Given the description of an element on the screen output the (x, y) to click on. 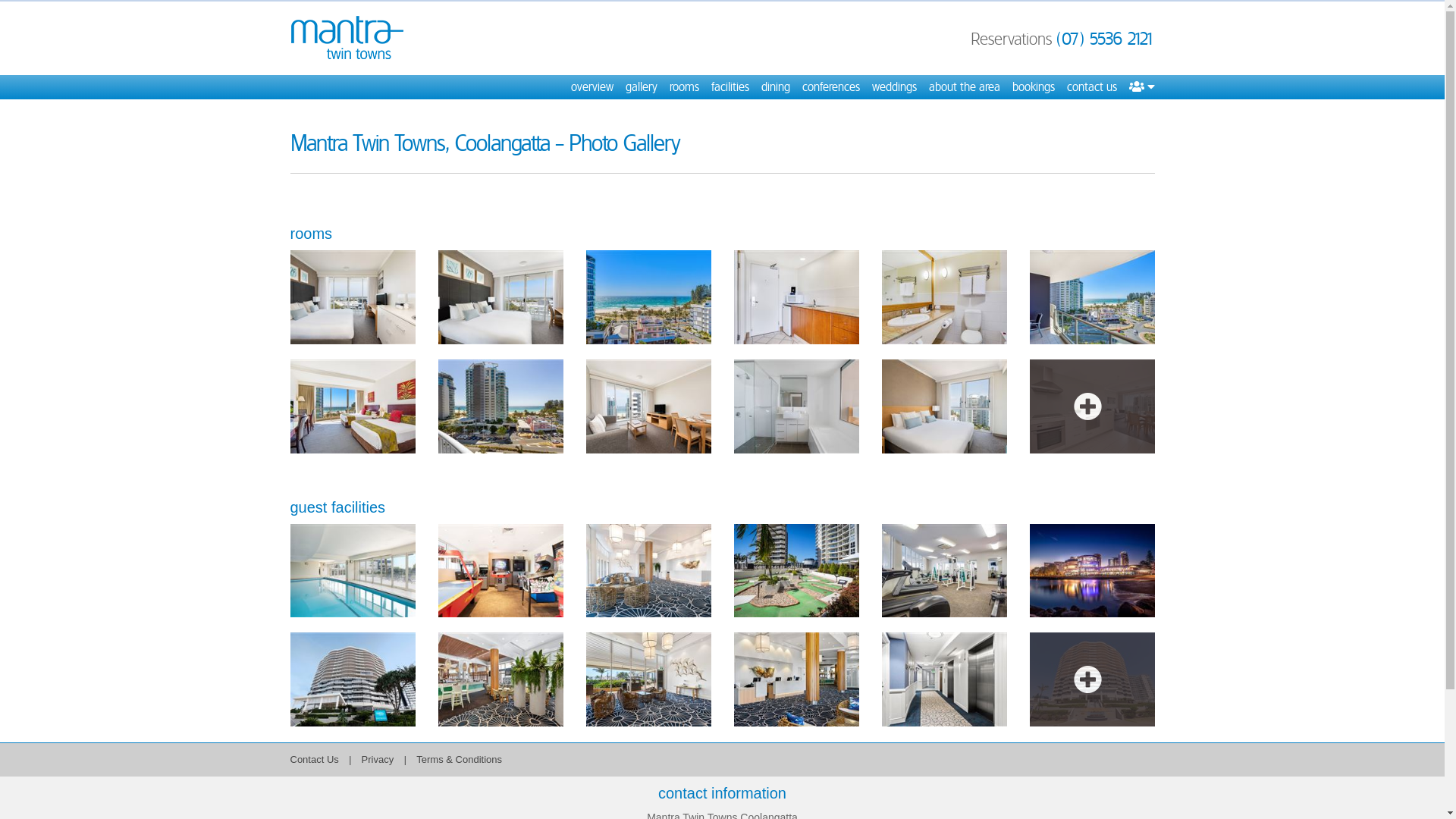
Exterior - Mantra Twin Towns Element type: hover (1091, 570)
Deluxe King Suite Balcony - Mantra Twin Towns Element type: hover (500, 406)
conferences Element type: text (830, 87)
Gym - Mantra Twin Towns Element type: hover (943, 570)
bookings Element type: text (1032, 87)
Mantra Twin Towns Element type: hover (346, 37)
rooms Element type: text (683, 87)
contact us Element type: text (1091, 87)
Games Room - Mantra Twin Towns Coolangatta Element type: hover (500, 570)
overview Element type: text (591, 87)
Hotel Room - Mantra Twin Towns Element type: hover (1091, 297)
Privacy Element type: text (378, 759)
Studio Room - Mantra Twin Towns Coolangatta Element type: hover (351, 297)
1 Bedroom Apartment - Mantra Twin Towns Coolangatta Element type: hover (1091, 406)
(07) 5536 2121 Element type: text (1104, 38)
Lobby - Mantra Twin Towns Element type: hover (500, 679)
Exterior - Mantra Twin Towns Element type: hover (1091, 679)
Twin Room - Mantra Twin Towns Element type: hover (351, 406)
Lobby - Mantra Twin Towns Element type: hover (647, 679)
about the area Element type: text (963, 87)
Terms & Conditions Element type: text (459, 759)
Contact Us Element type: text (313, 759)
1 Bedroom Apartment - Mantra Twin Towns Coolangatta Element type: hover (943, 406)
Exterior - Mantra Twin Towns Coolangatta Element type: hover (351, 679)
dining Element type: text (775, 87)
facilities Element type: text (730, 87)
Level 5 Corridor - Mantra Twin Towns Element type: hover (943, 679)
Mini Golf Course - Mantra Twin Towns Element type: hover (796, 570)
Reception - Mantra Twin Towns Coolangatta Element type: hover (647, 570)
weddings Element type: text (894, 87)
1 Bedroom Apartment - Mantra Twin Towns Coolangatta Element type: hover (647, 406)
Hotel Room - Mantra Twin Towns Element type: hover (796, 297)
Swimming Pool - Mantra Twin Towns Coolangatta Element type: hover (351, 570)
1 Bedroom Apartment - Mantra Twin Towns Coolangatta Element type: hover (796, 406)
Studio Room - Mantra Twin Towns Coolangatta Element type: hover (500, 297)
Lobby - Mantra Twin Towns Element type: hover (796, 679)
Hotel Room - Mantra Twin Towns Element type: hover (943, 297)
Hotel Room - Mantra Twin Towns Element type: hover (647, 297)
gallery Element type: text (640, 87)
